Given the description of an element on the screen output the (x, y) to click on. 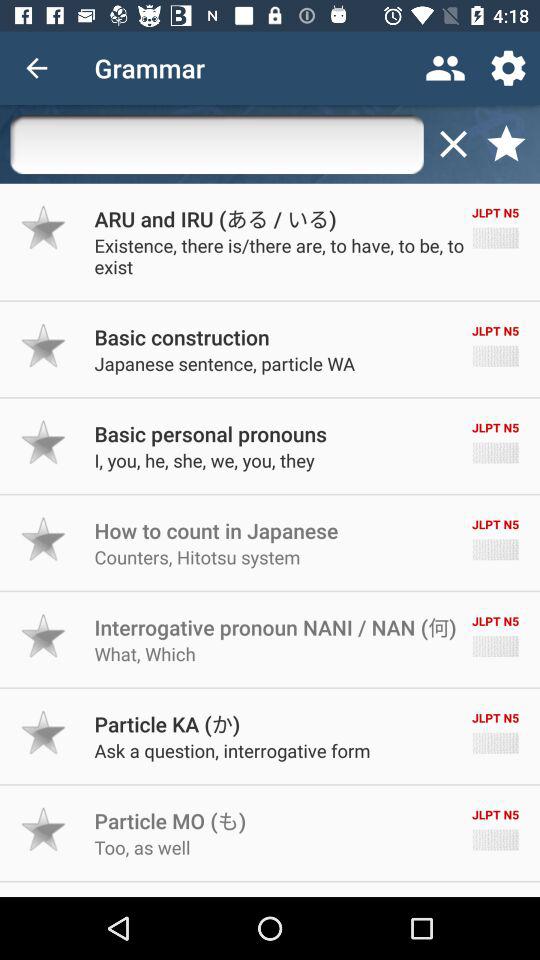
click on starred list (506, 144)
